Given the description of an element on the screen output the (x, y) to click on. 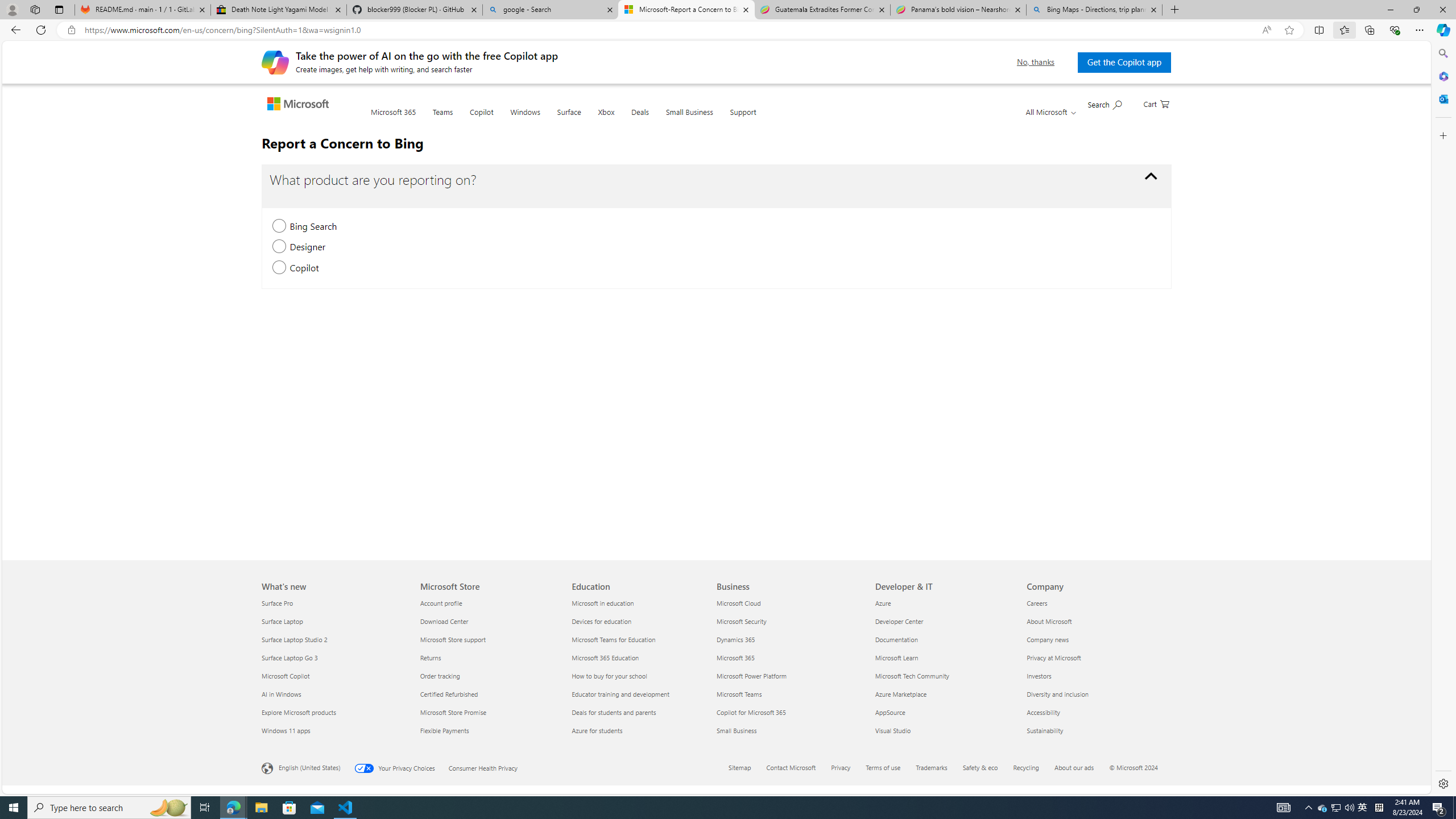
Surface (568, 118)
Surface Laptop Go 3 What's new (289, 656)
Microsoft Copilot (334, 675)
Side bar (1443, 418)
Support (743, 118)
Flexible Payments (489, 730)
Safety & eco (980, 766)
Windows 11 apps (334, 730)
About our ads (1081, 768)
Microsoft 365 Education Education (605, 656)
Recycling (1026, 766)
Careers (1095, 602)
Xbox (605, 118)
Microsoft 365 Business (735, 656)
